Given the description of an element on the screen output the (x, y) to click on. 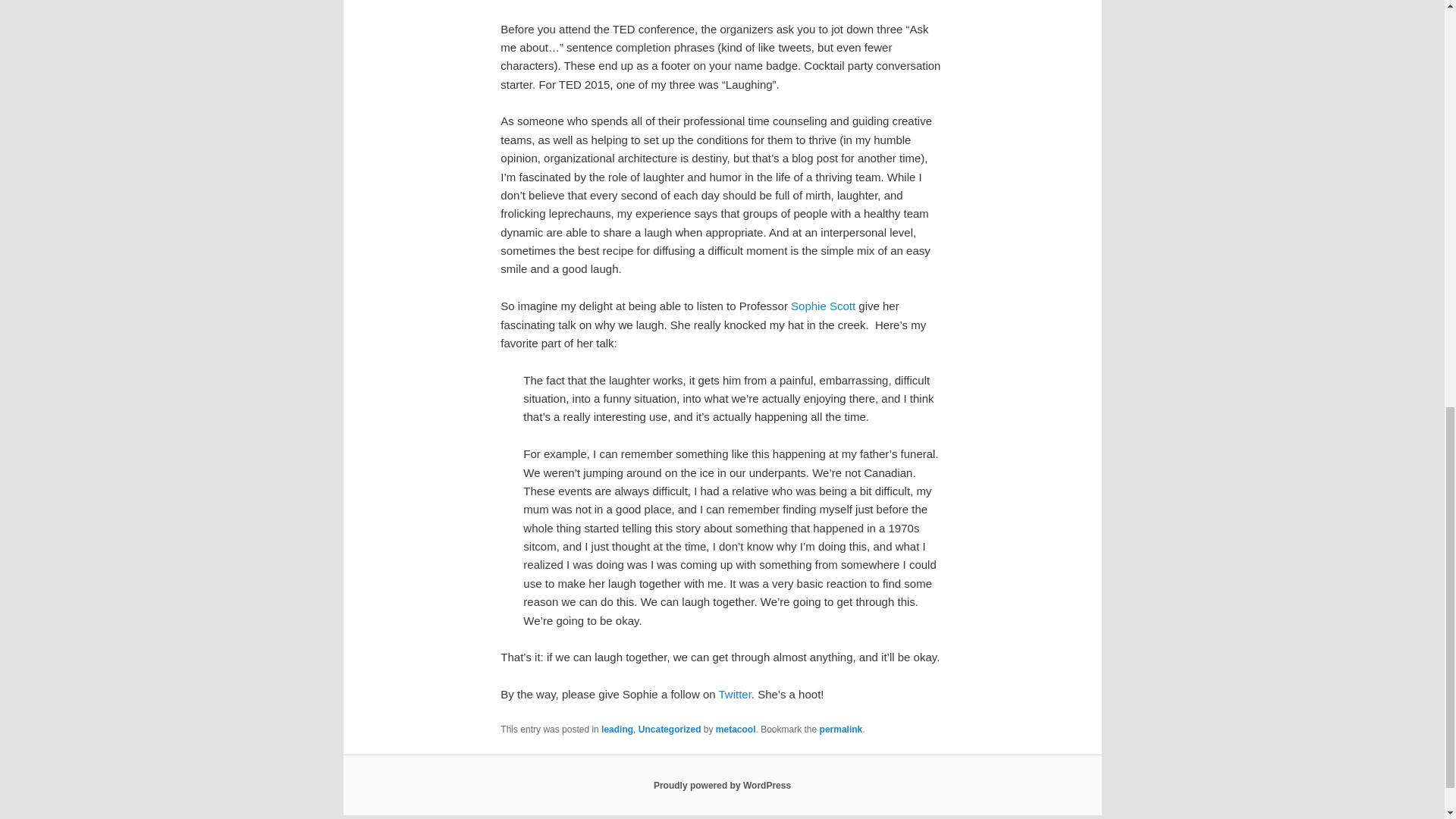
metacool (735, 728)
Uncategorized (670, 728)
Twitter (734, 694)
Sophie Scott (823, 305)
Proudly powered by WordPress (721, 785)
leading (617, 728)
permalink (841, 728)
Semantic Personal Publishing Platform (721, 785)
Permalink to Laughing: the killer app for teams? (841, 728)
